Given the description of an element on the screen output the (x, y) to click on. 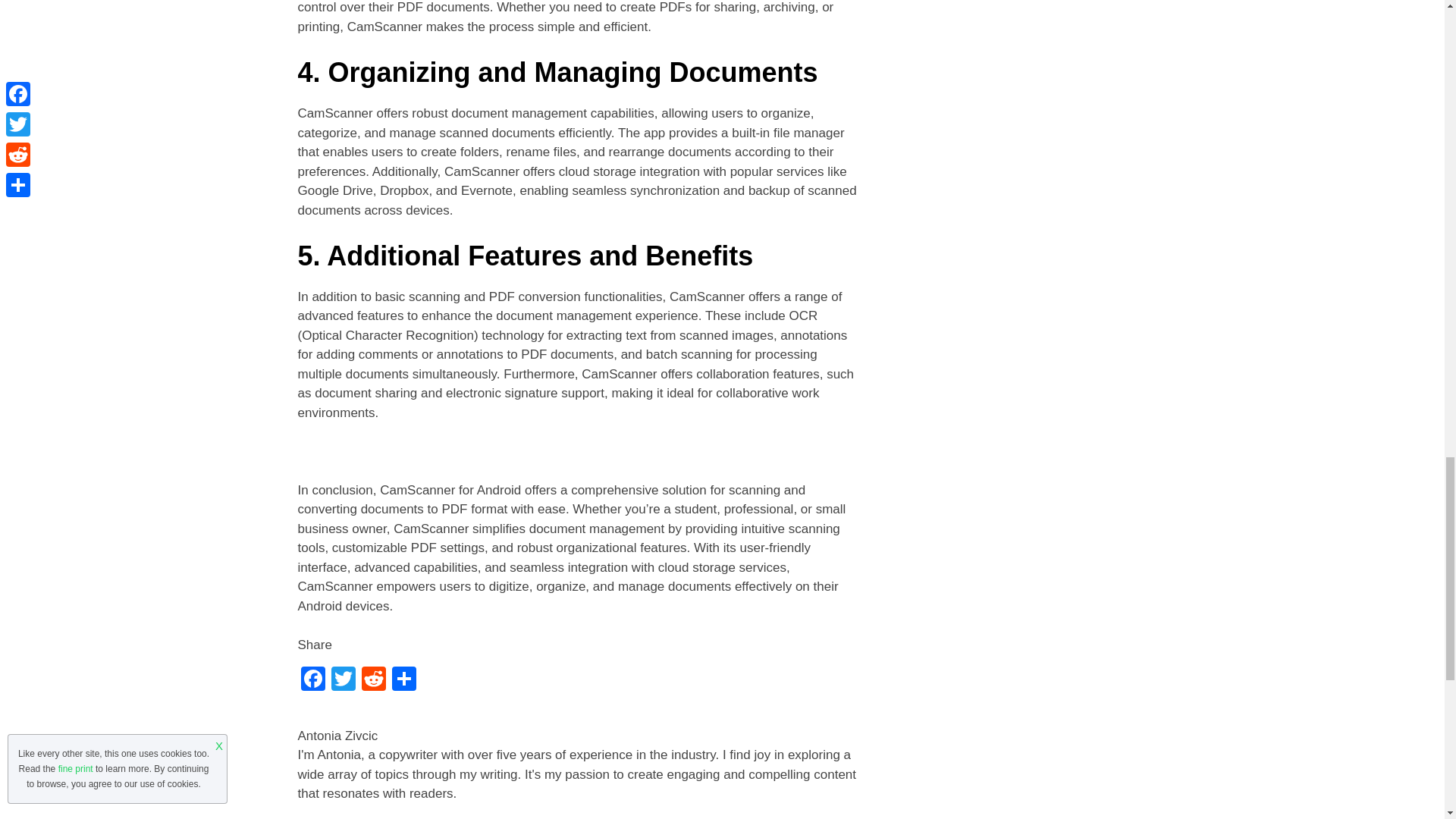
Facebook (312, 680)
Reddit (373, 680)
Twitter (342, 680)
Facebook (312, 680)
Reddit (373, 680)
Twitter (342, 680)
